Given the description of an element on the screen output the (x, y) to click on. 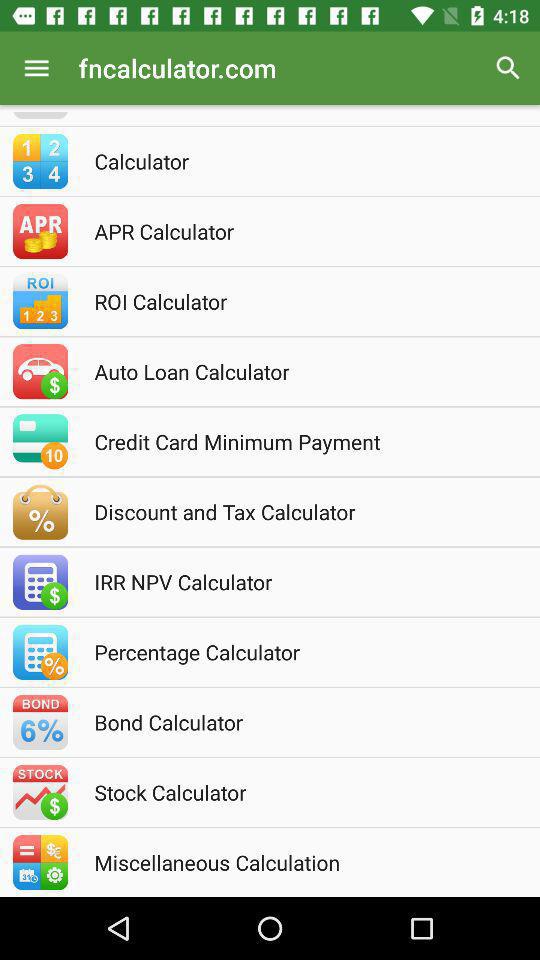
select the icon to the right of fncalculator.com item (508, 67)
